Given the description of an element on the screen output the (x, y) to click on. 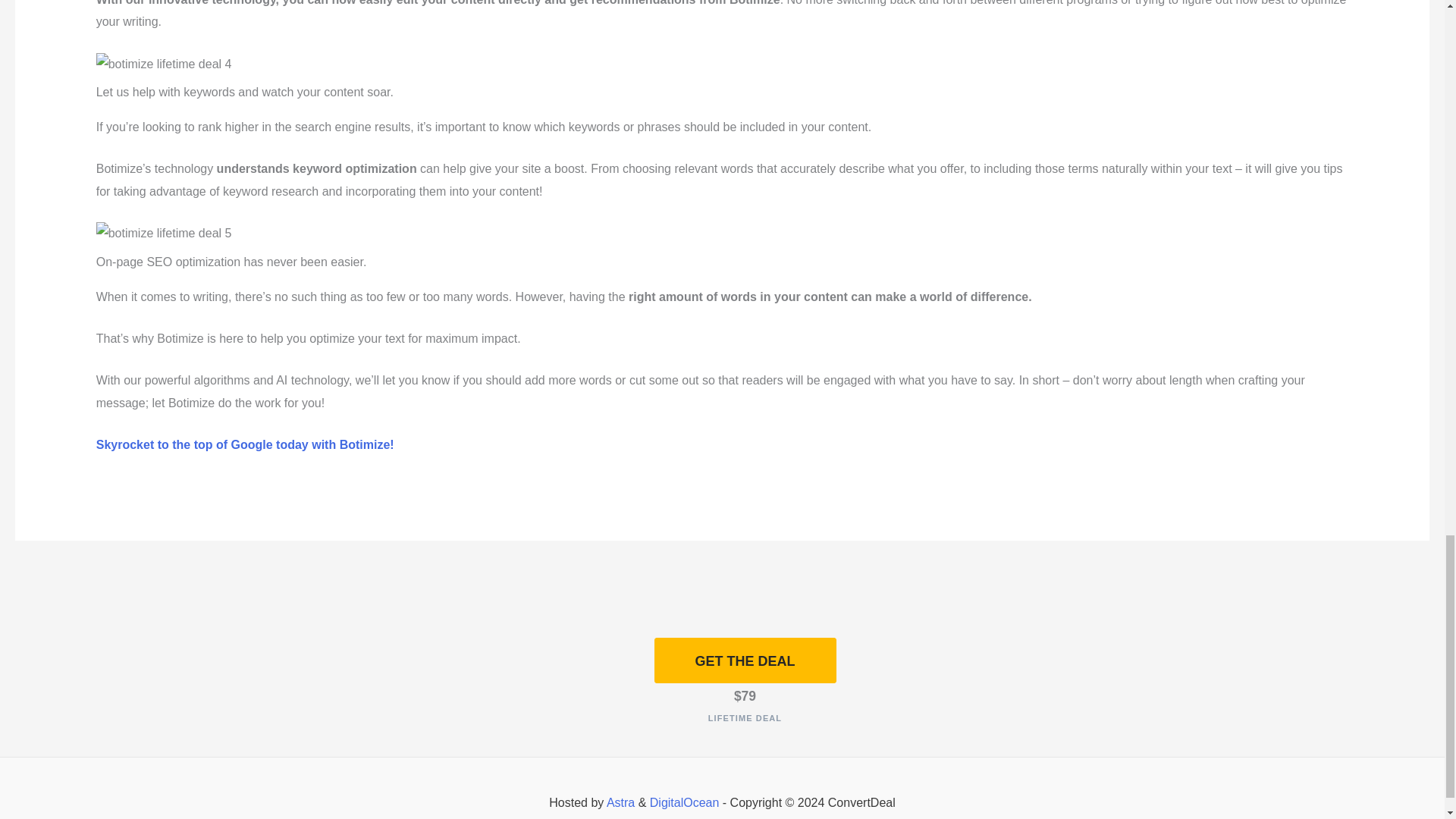
GET THE DEAL (744, 661)
Astra (620, 802)
DigitalOcean (684, 802)
GET THE DEAL (744, 660)
Skyrocket to the top of Google today with Botimize! (245, 444)
